Given the description of an element on the screen output the (x, y) to click on. 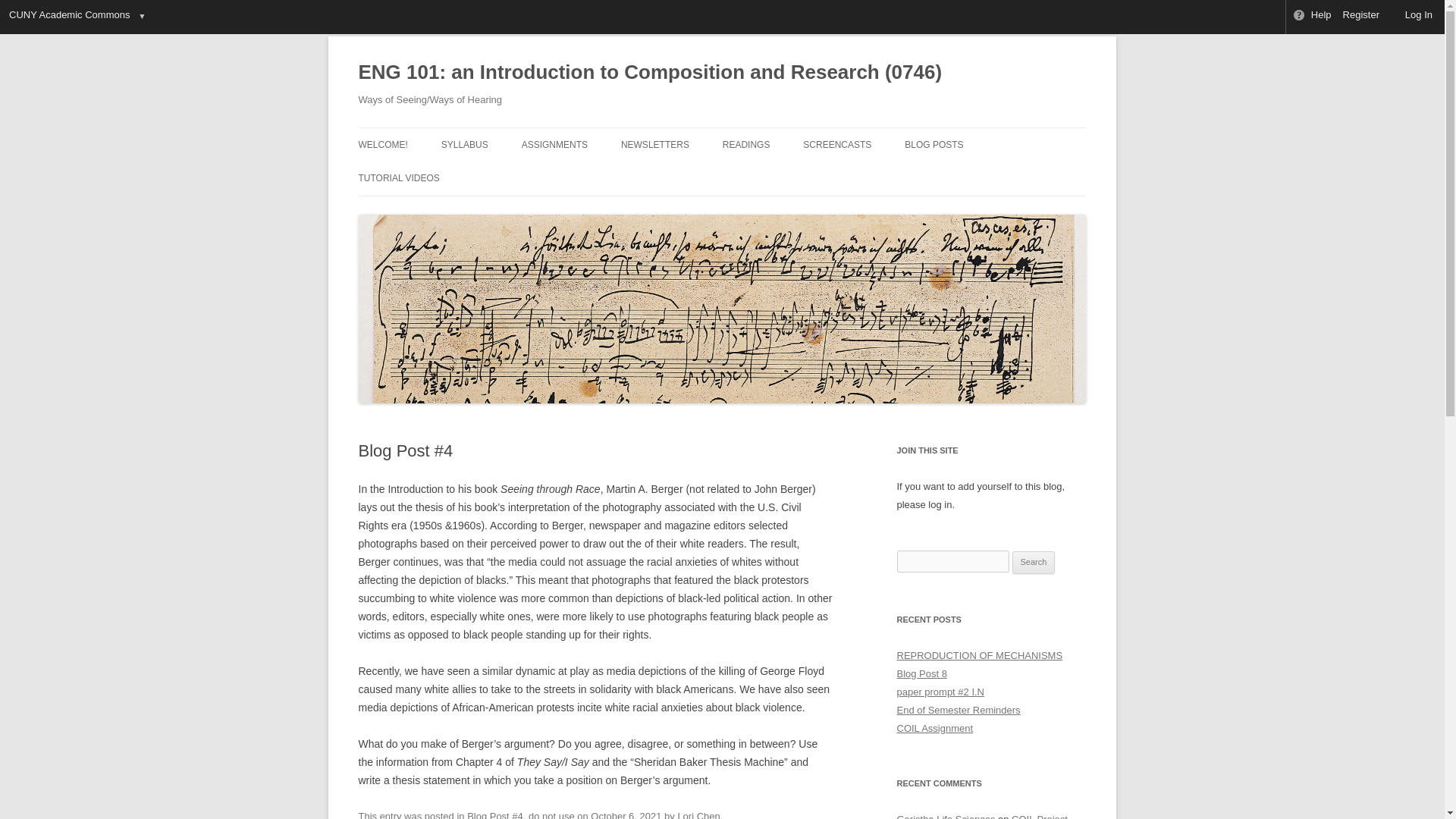
BLOG POSTS (933, 144)
Search (1033, 562)
Lori Chen (698, 814)
SCREENCASTS (836, 144)
NEWSLETTERS (654, 144)
TUTORIAL VIDEOS (398, 177)
Log In (1412, 17)
INTRODUCTIONS (980, 176)
WELCOME! (382, 144)
do not use (551, 814)
SYLLABUS (464, 144)
READINGS (746, 144)
CUNY Academic Commons (68, 17)
October 6, 2021 (626, 814)
